Given the description of an element on the screen output the (x, y) to click on. 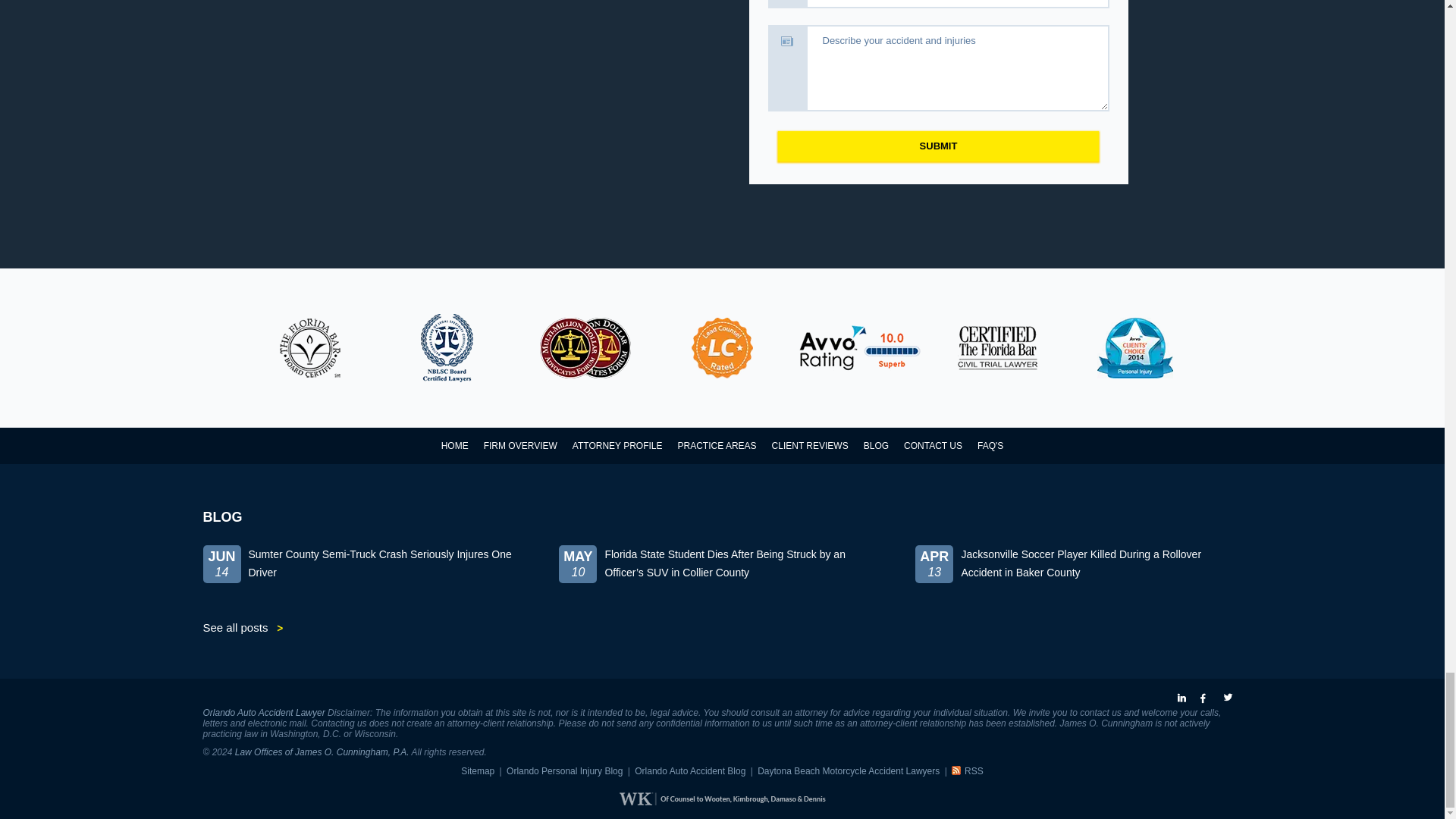
Enter your phone (956, 4)
Submit (938, 146)
Sumter County Semi-Truck Crash Seriously Injures One Driver (366, 577)
